Given the description of an element on the screen output the (x, y) to click on. 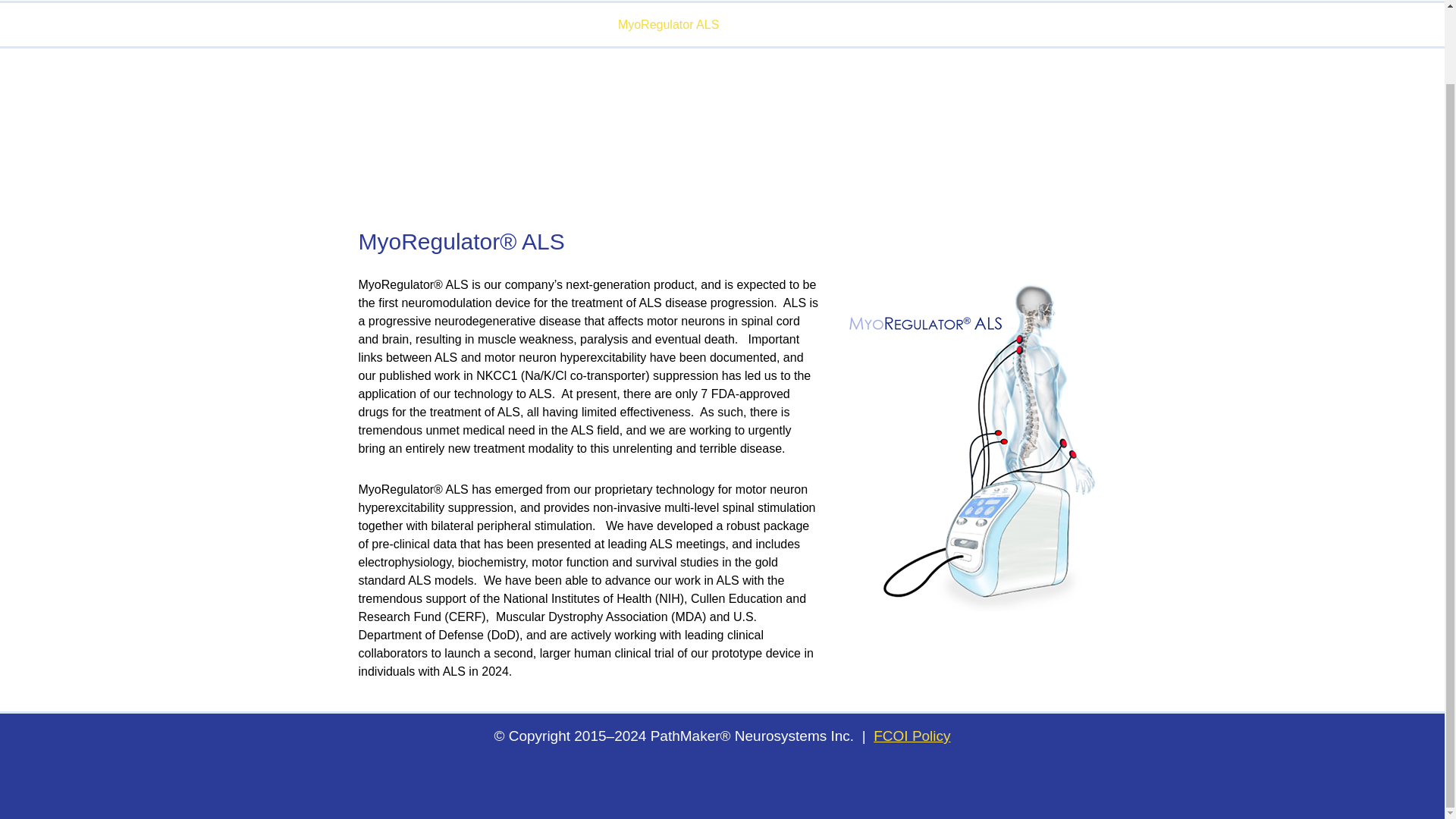
Therapeutic Indications (803, 24)
Overview (809, 14)
FCOI Policy (911, 735)
Partnering (1051, 14)
MyoRegulator ALS (668, 24)
MyoRegulator PM-2200 (531, 24)
Clinical Trials (923, 24)
Press releases (1138, 14)
Neuromodulation (891, 14)
Product Pipeline (402, 24)
